Given the description of an element on the screen output the (x, y) to click on. 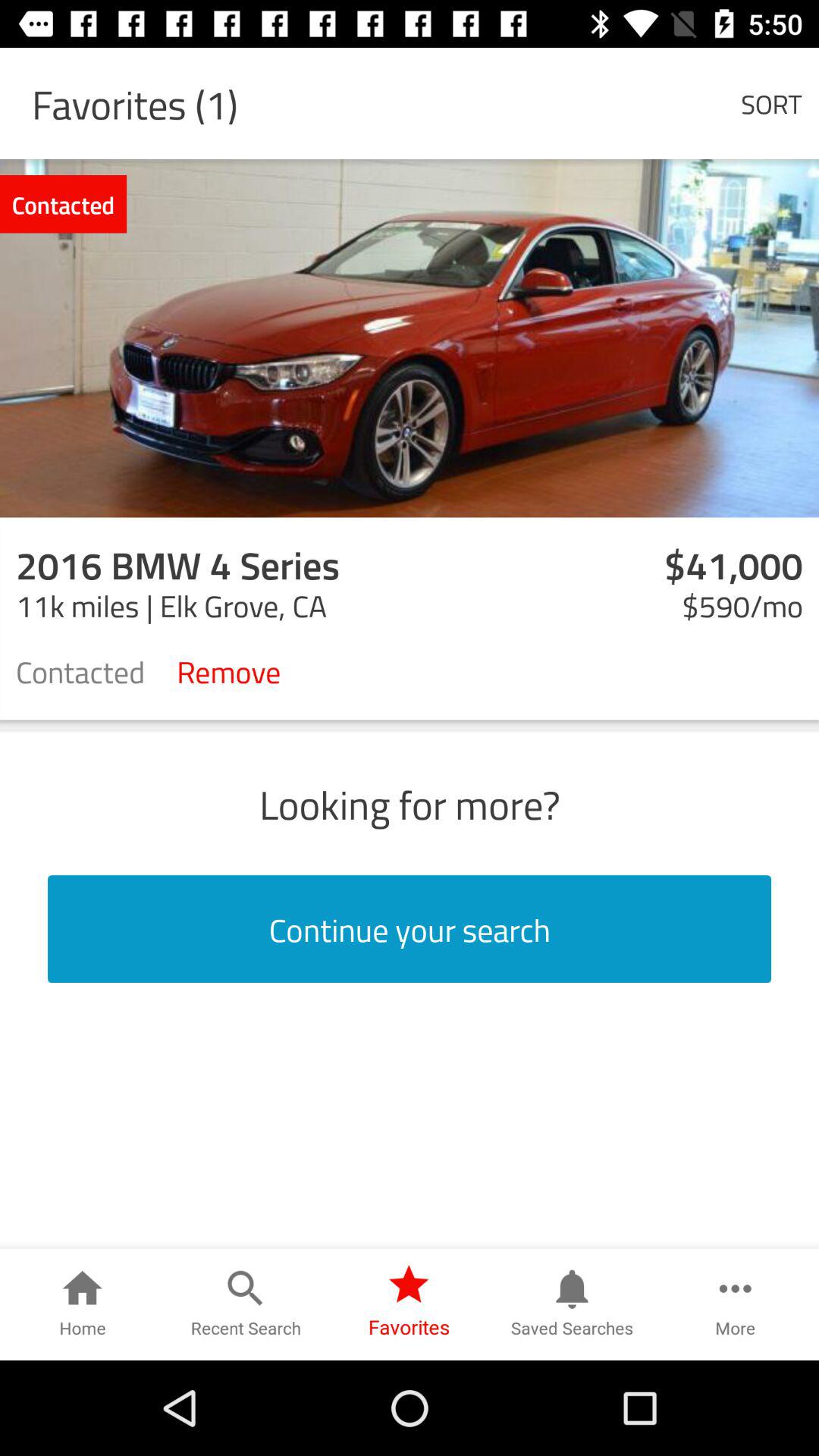
tap the icon to the right of contacted (228, 671)
